Given the description of an element on the screen output the (x, y) to click on. 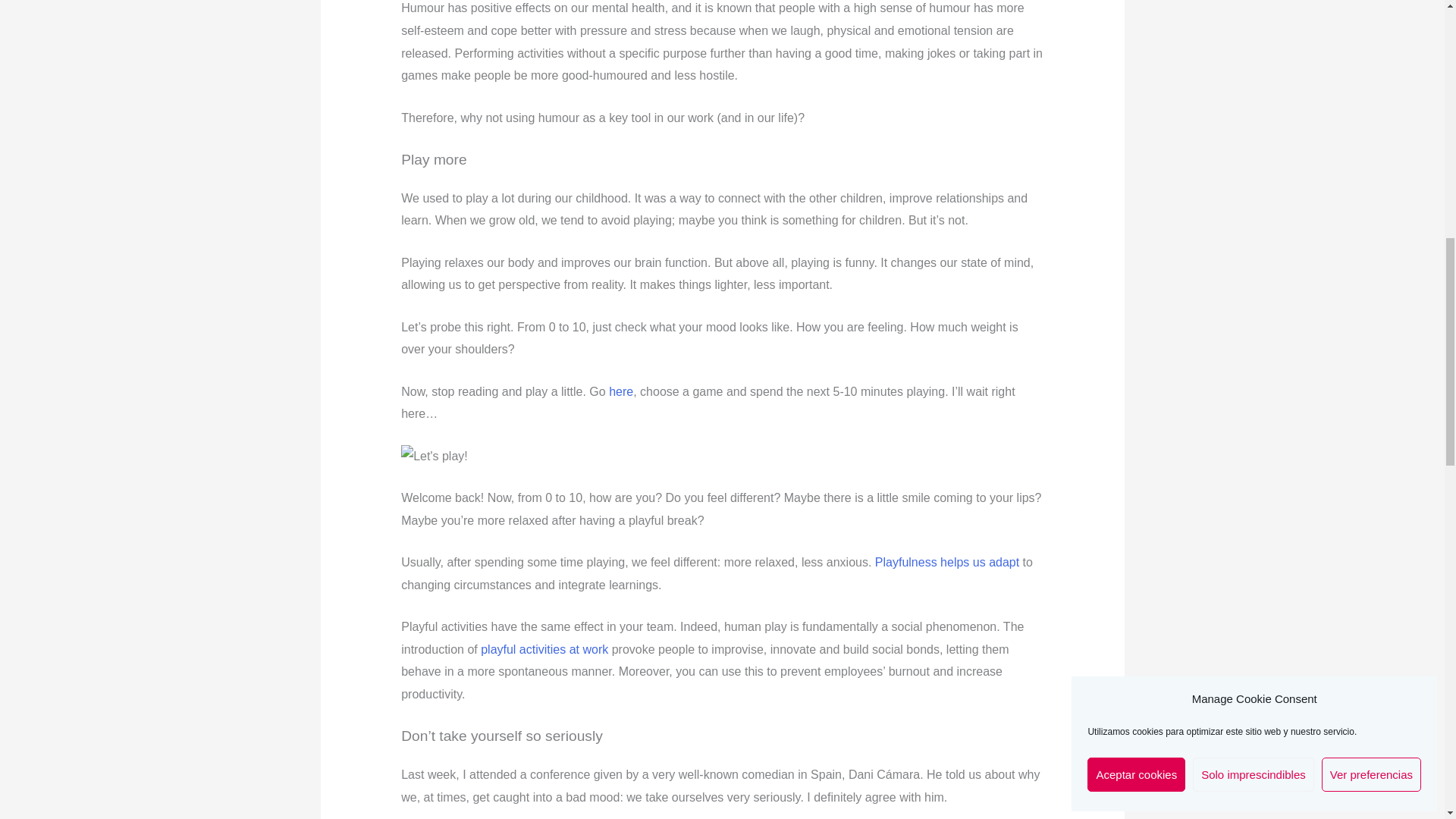
here (620, 391)
Playfulness helps us adapt (947, 562)
playful activities at work (544, 649)
